Given the description of an element on the screen output the (x, y) to click on. 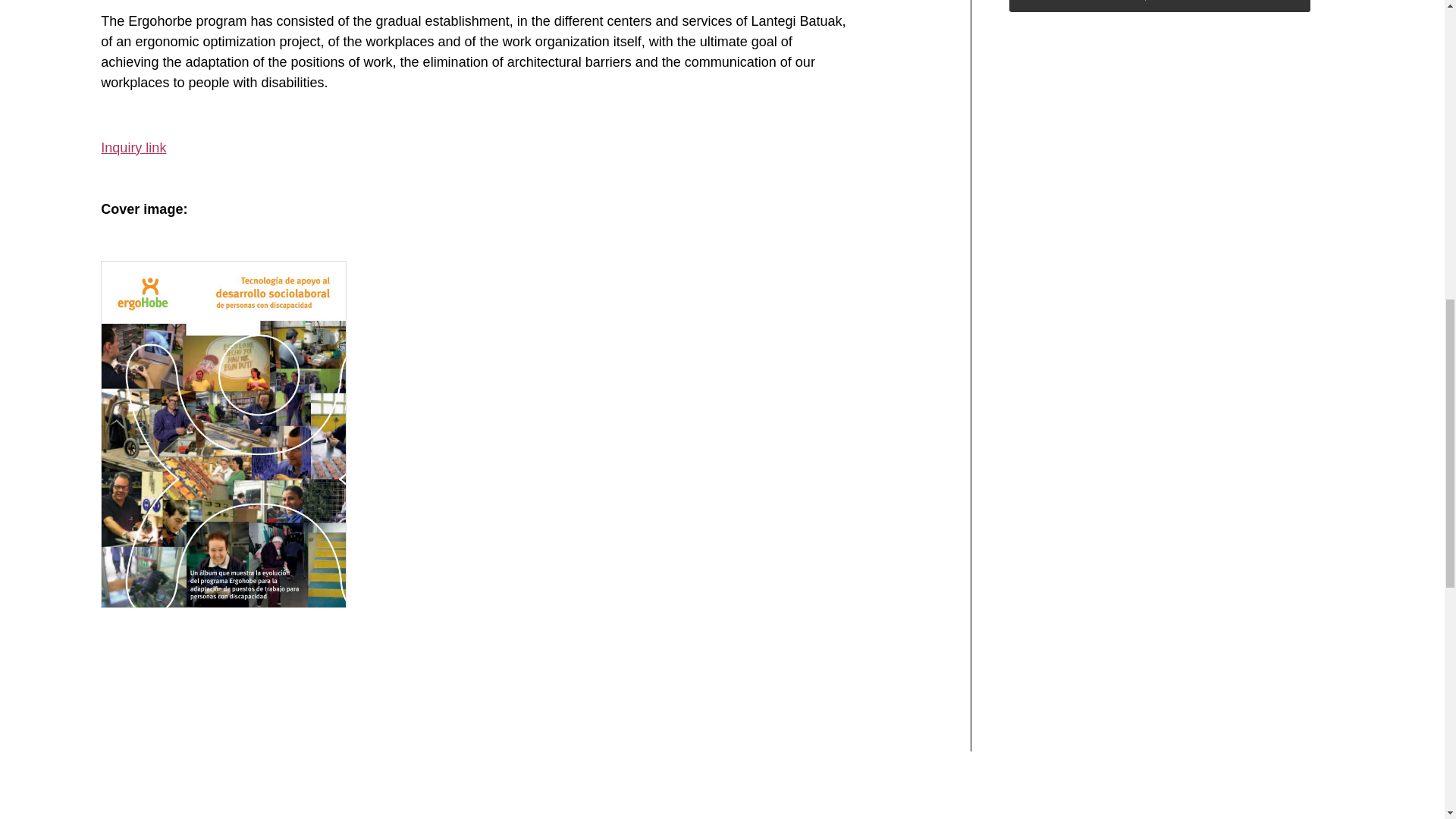
Inquiry link (132, 147)
Return to Guides, Manuals and Studies (1158, 6)
Opens in a new window. (132, 147)
